Given the description of an element on the screen output the (x, y) to click on. 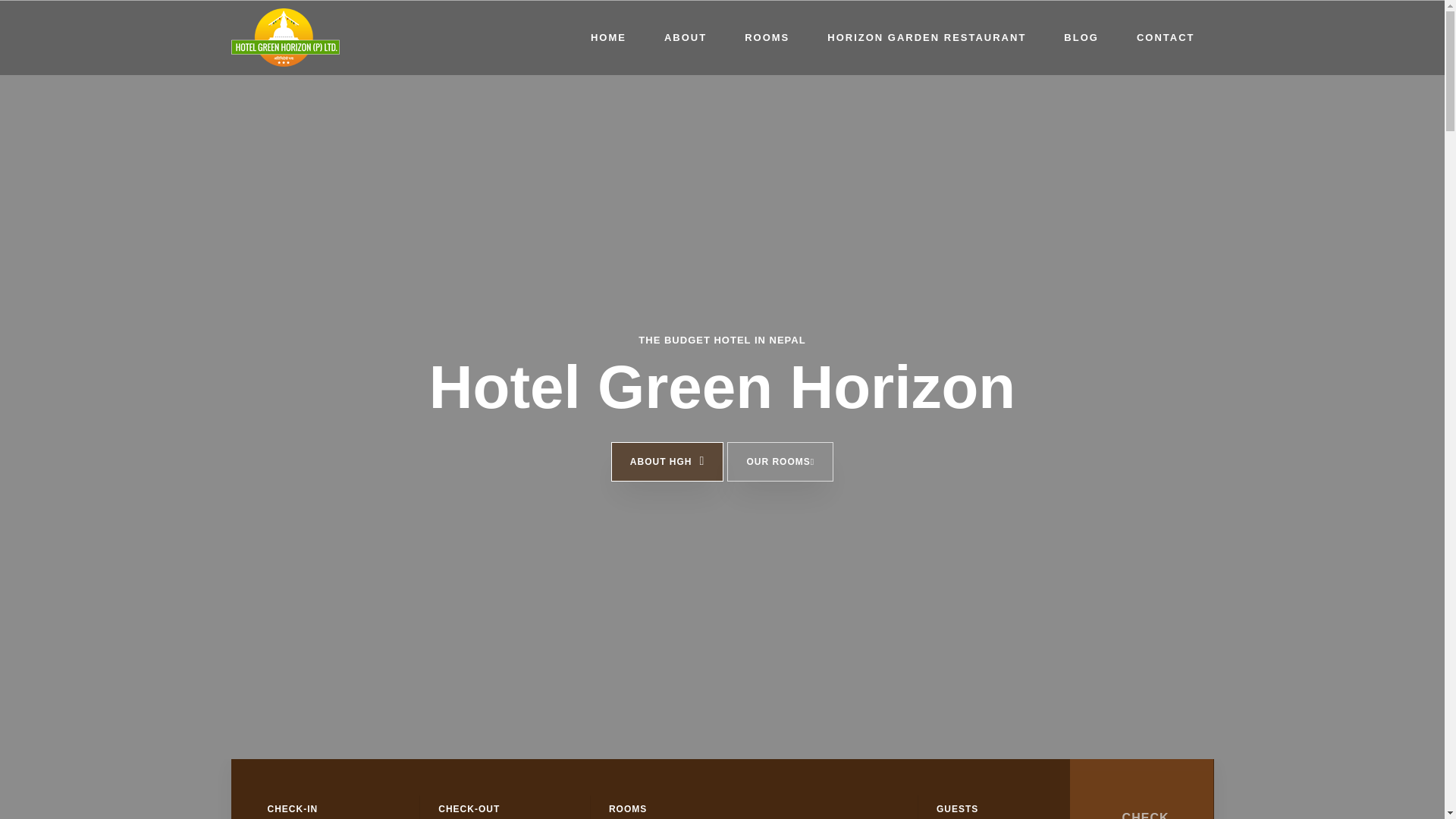
HORIZON GARDEN RESTAURANT (926, 37)
ABOUT HGH (667, 461)
ROOMS (766, 37)
BLOG (1081, 37)
CONTACT (1166, 37)
OUR ROOMS (779, 461)
ABOUT (685, 37)
HOME (608, 37)
CHECK AVAILABILITY (1142, 789)
